Given the description of an element on the screen output the (x, y) to click on. 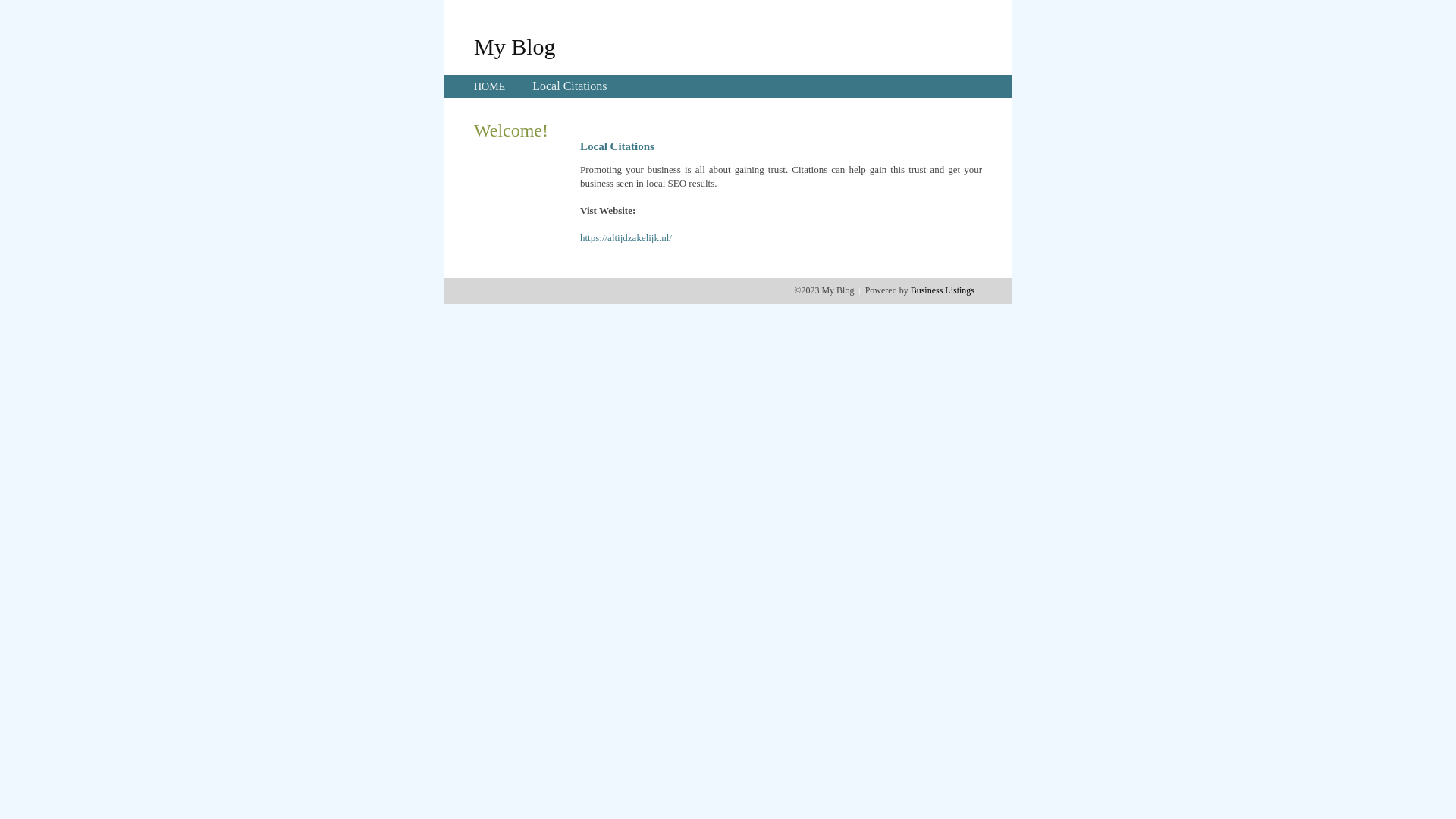
Business Listings Element type: text (942, 290)
https://altijdzakelijk.nl/ Element type: text (625, 237)
Local Citations Element type: text (569, 85)
My Blog Element type: text (514, 46)
HOME Element type: text (489, 86)
